Given the description of an element on the screen output the (x, y) to click on. 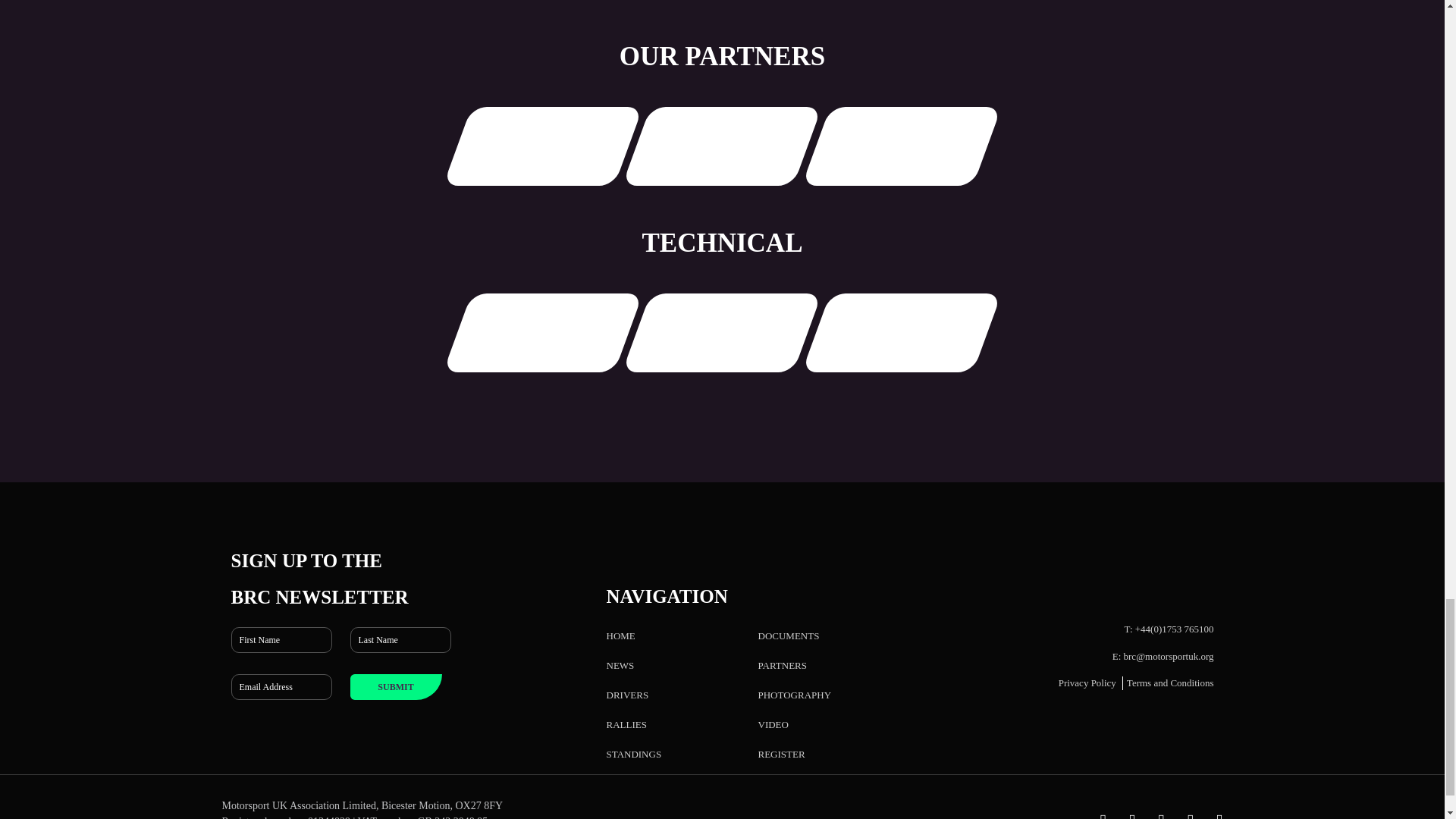
Submit (396, 687)
HOME (620, 635)
Submit (396, 687)
DRIVERS (628, 695)
DOCUMENTS (788, 635)
Privacy Policy (1087, 682)
STANDINGS (634, 754)
PARTNERS (783, 665)
NEWS (620, 665)
REGISTER (781, 754)
